Given the description of an element on the screen output the (x, y) to click on. 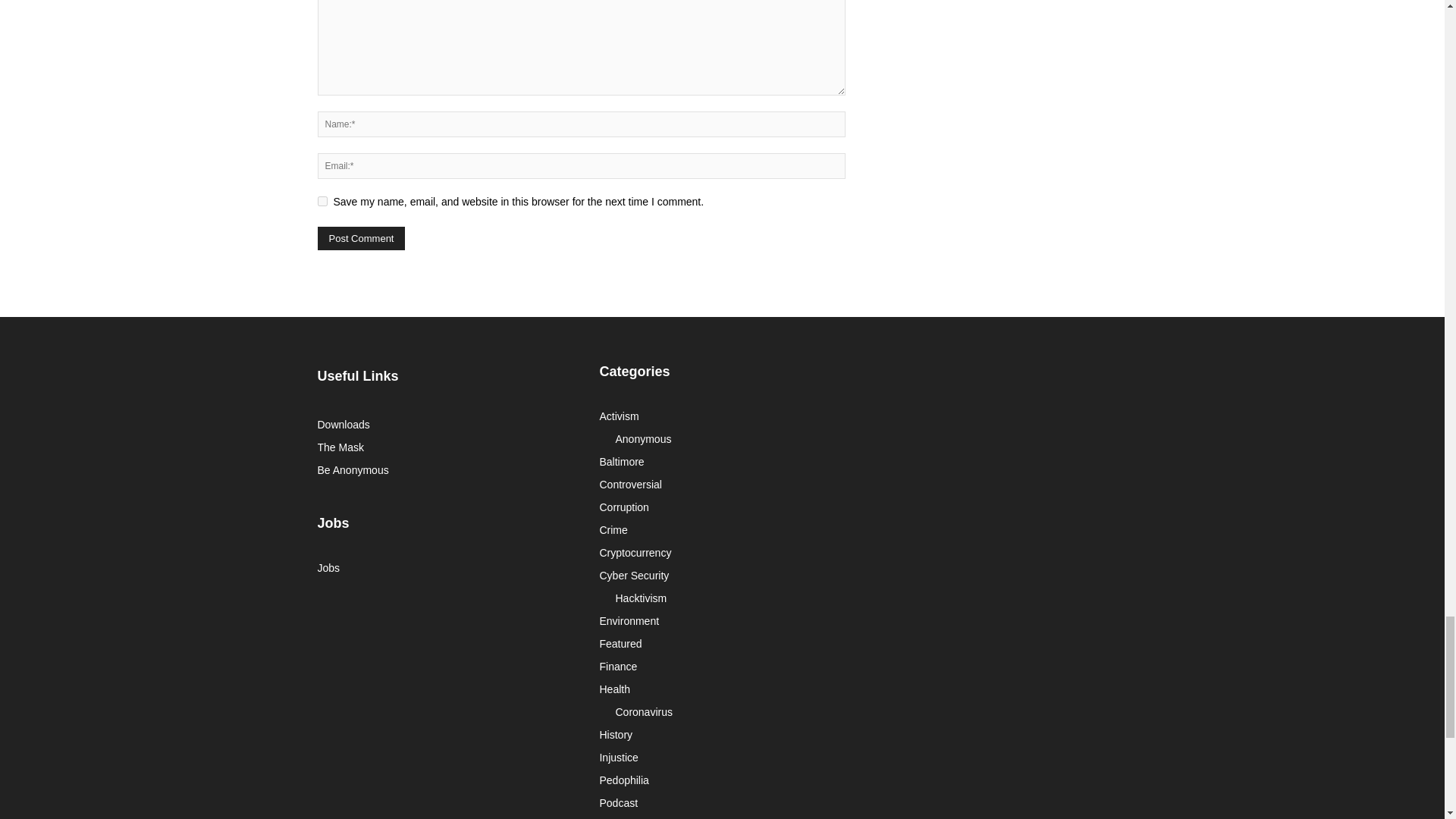
Post Comment (360, 238)
yes (321, 201)
